Given the description of an element on the screen output the (x, y) to click on. 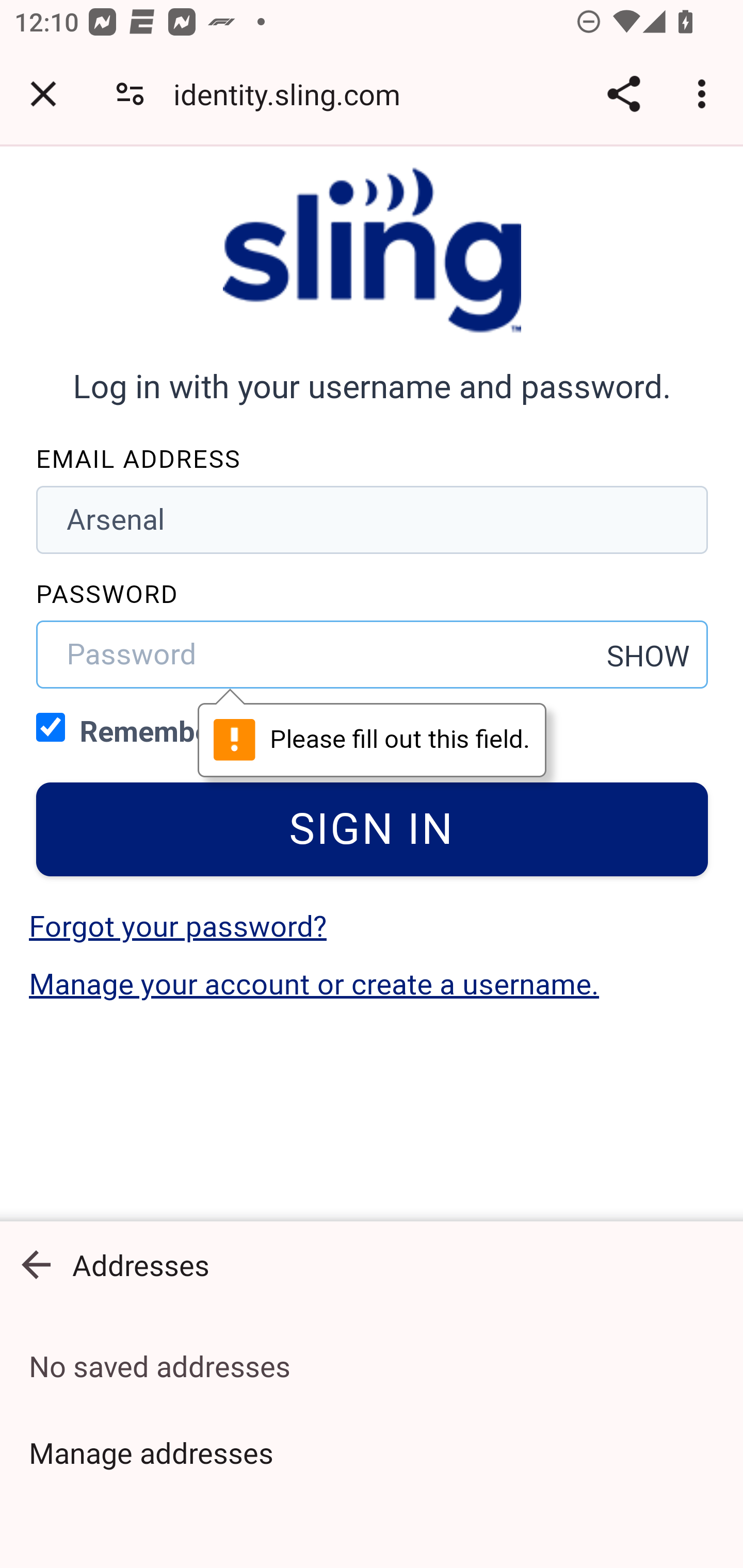
Close tab (43, 93)
Share (623, 93)
Customize and control Google Chrome (705, 93)
Connection is secure (129, 93)
identity.sling.com (294, 93)
Arsenal (372, 518)
SHOW (649, 655)
Remember Me (50, 726)
SIGN IN (372, 829)
Forgot your password? (177, 926)
Manage your account or create a username. (313, 984)
Show keyboard Addresses (371, 1264)
Manage addresses (371, 1452)
